Given the description of an element on the screen output the (x, y) to click on. 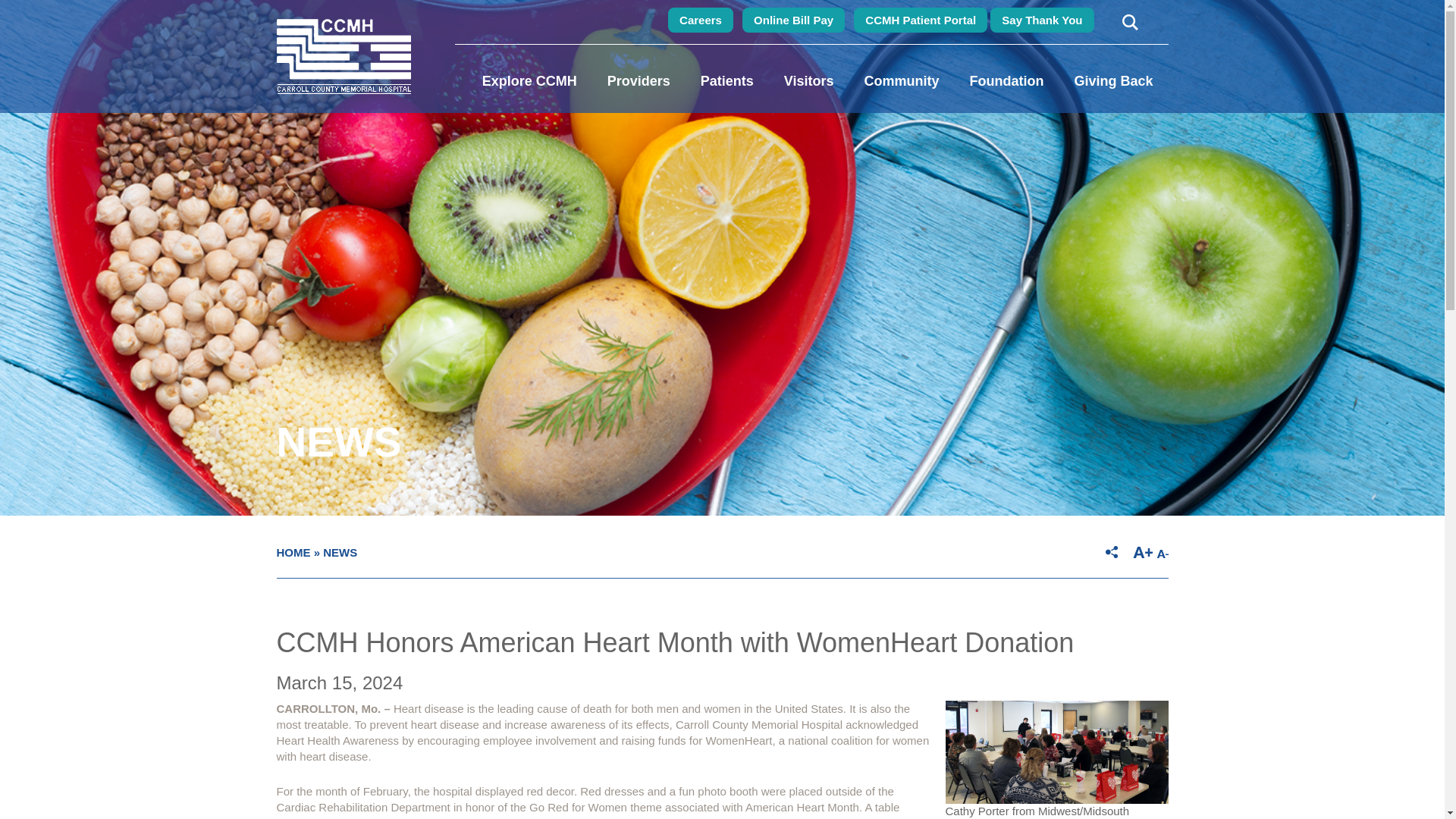
Providers (638, 80)
Careers (700, 19)
Patients (726, 80)
Say Thank You (1041, 19)
Carroll County Memorial Hospital (343, 56)
Community (900, 80)
Online Bill Pay (793, 19)
CCMH Patient Portal (920, 19)
Visitors (808, 80)
Carroll County Memorial Hospital (343, 56)
Explore CCMH (529, 80)
